Given the description of an element on the screen output the (x, y) to click on. 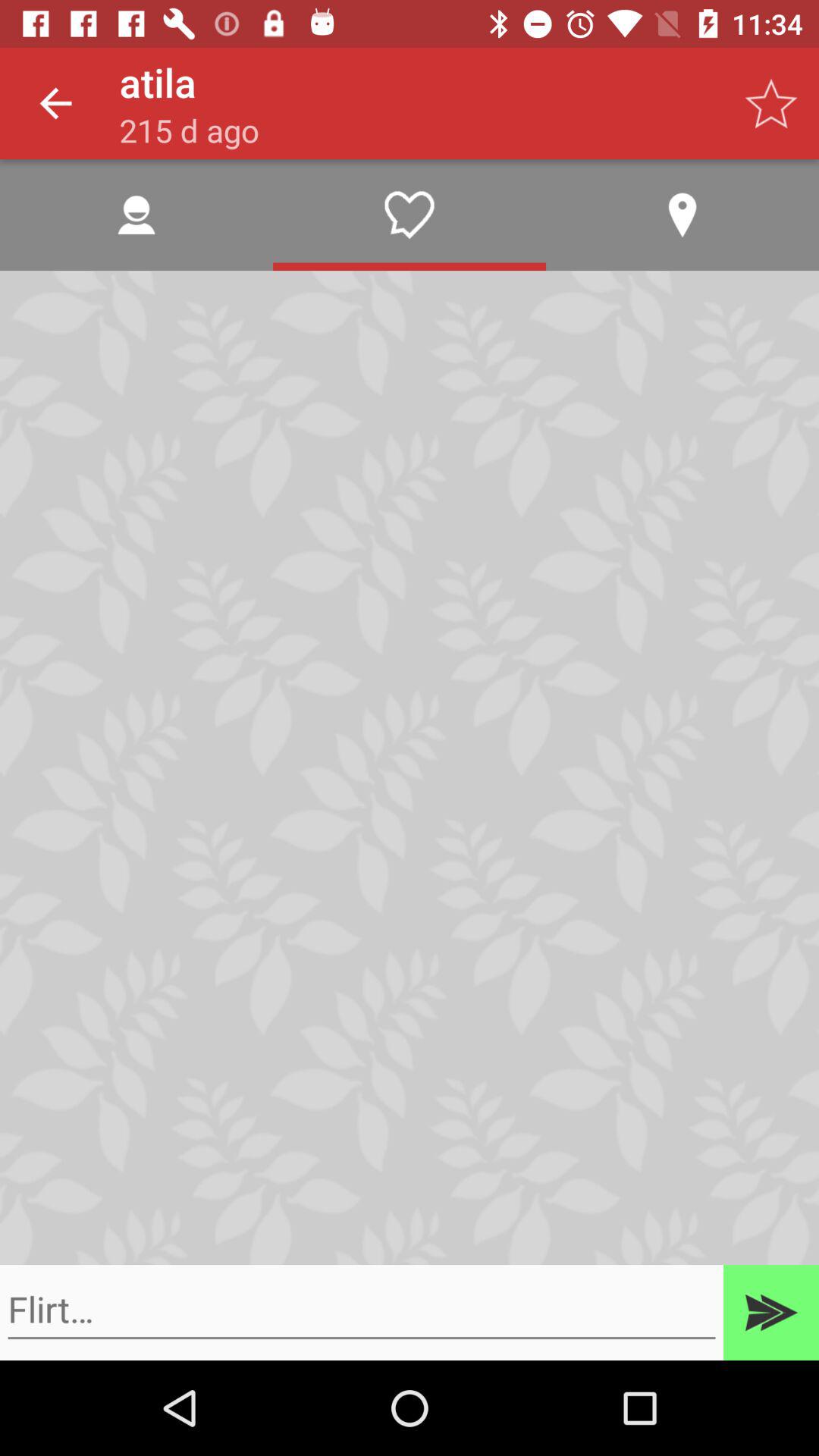
advertisement page (361, 1309)
